Given the description of an element on the screen output the (x, y) to click on. 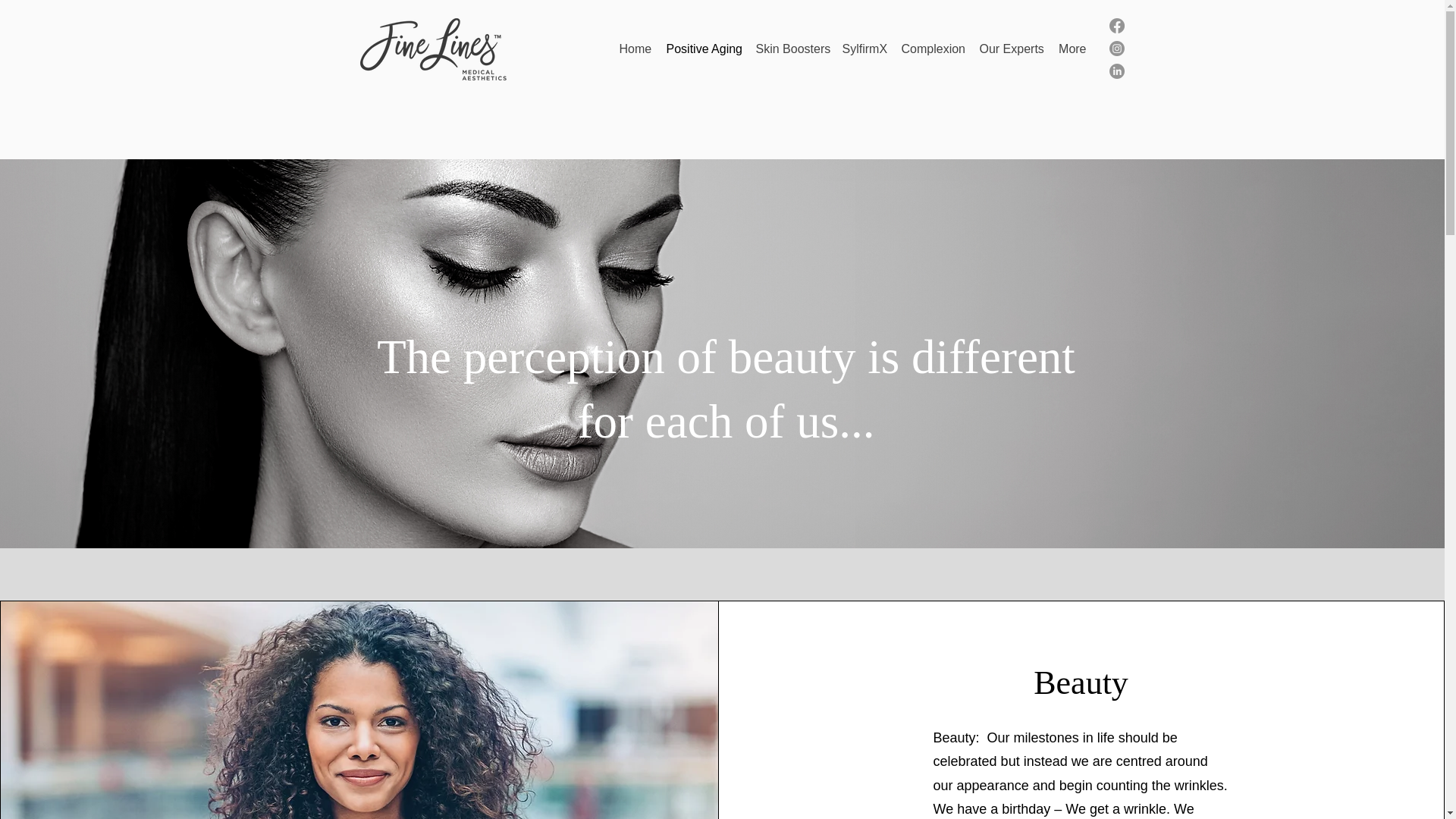
Home (634, 48)
Our Experts (1010, 48)
Positive Aging (703, 48)
SylfirmX (863, 48)
Complexion (932, 48)
Skin Boosters (791, 48)
